Given the description of an element on the screen output the (x, y) to click on. 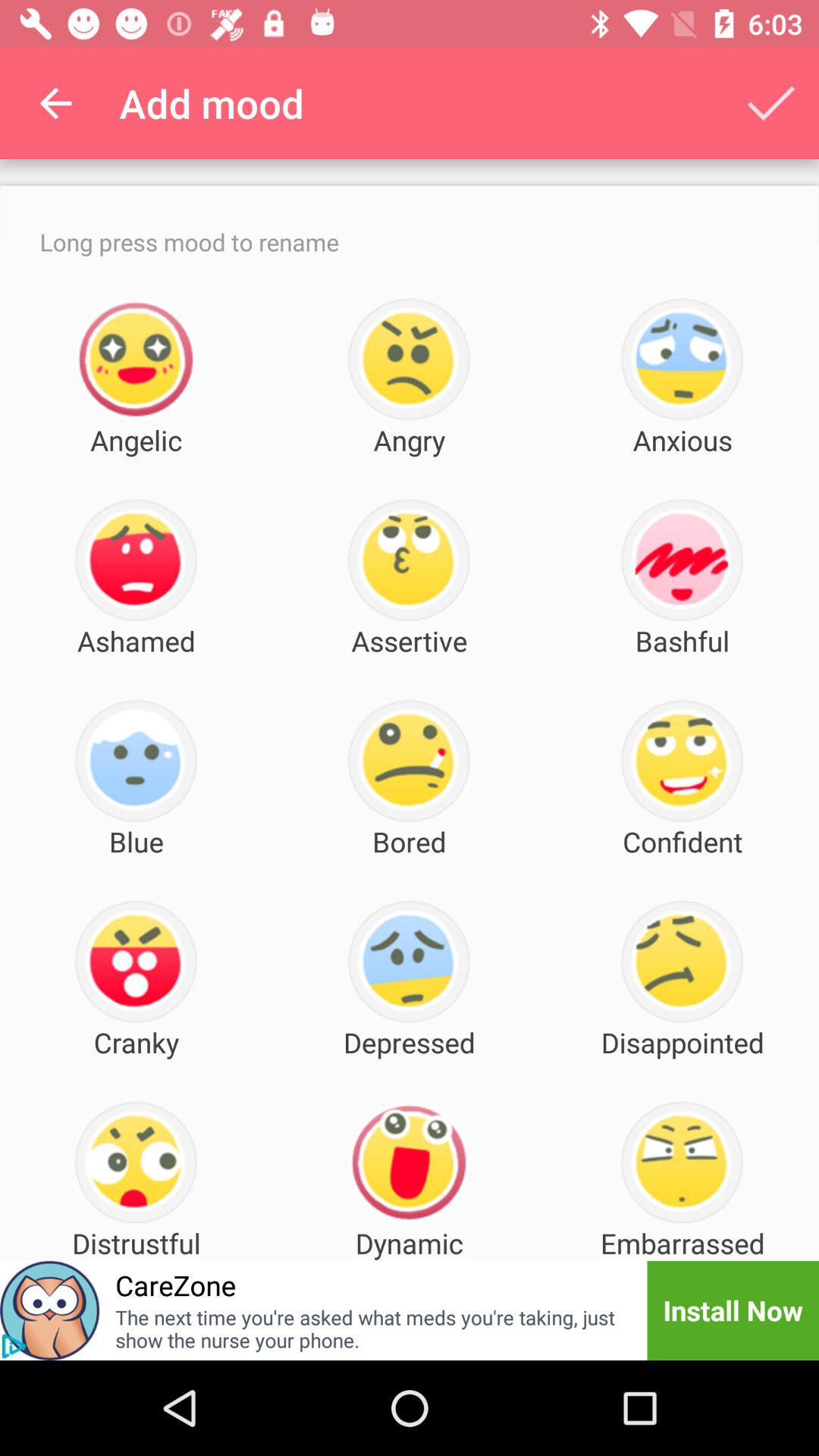
choose item below distrustful item (49, 1310)
